Given the description of an element on the screen output the (x, y) to click on. 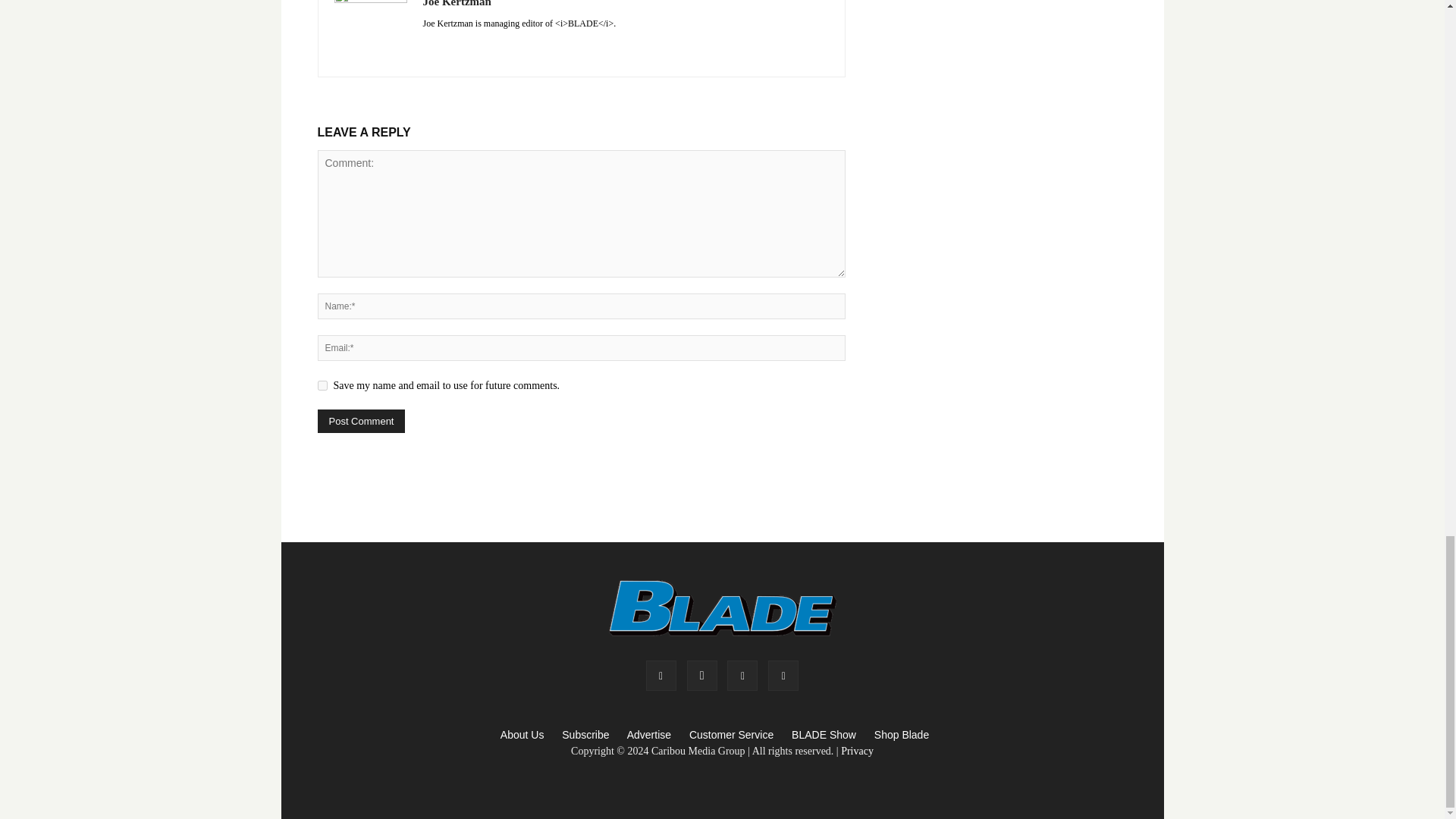
yes (321, 385)
Post Comment (360, 421)
